Given the description of an element on the screen output the (x, y) to click on. 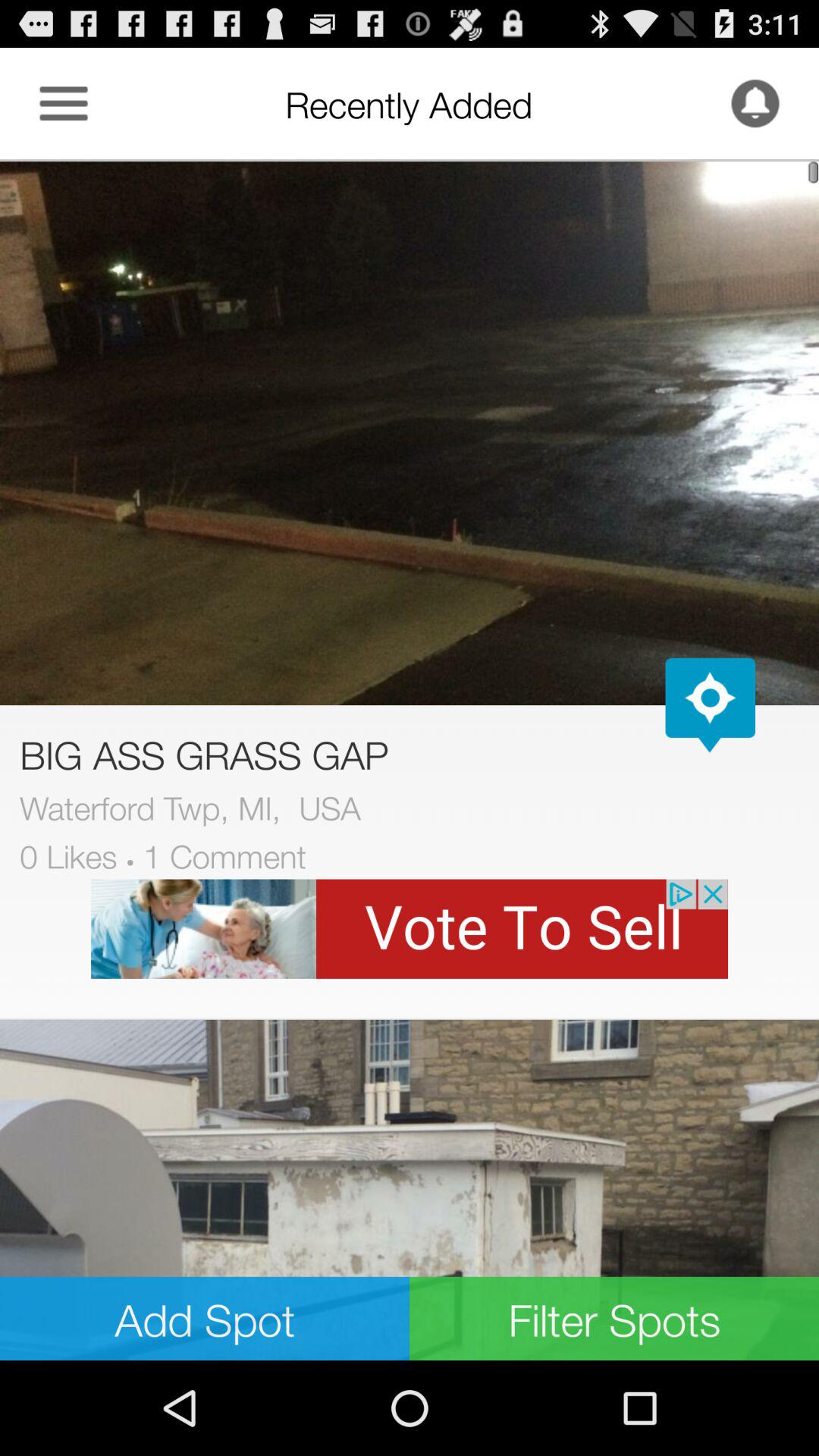
view notifications (755, 103)
